Given the description of an element on the screen output the (x, y) to click on. 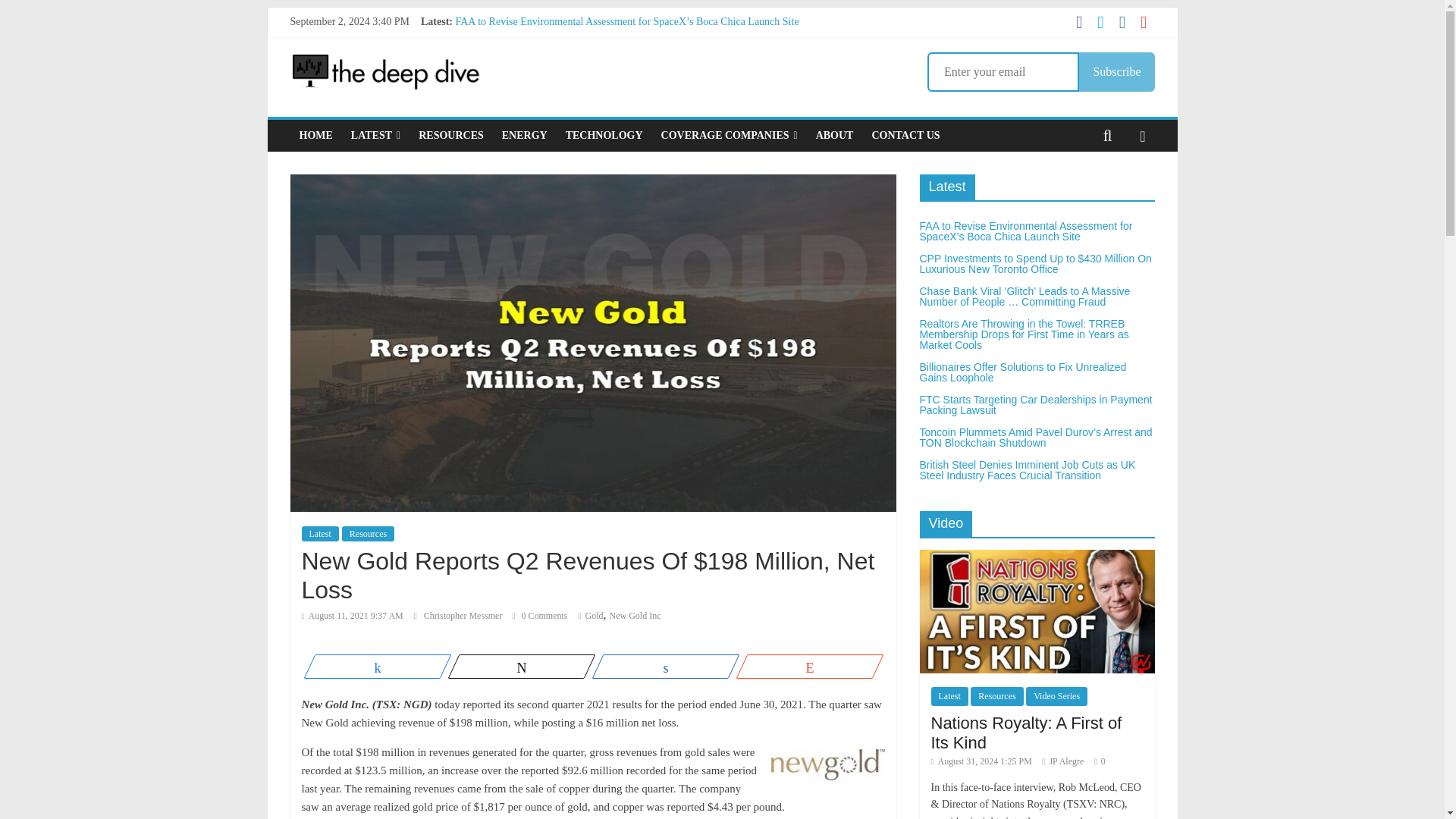
COVERAGE COMPANIES (729, 135)
ENERGY (524, 135)
Christopher Messmer (464, 615)
RESOURCES (451, 135)
TECHNOLOGY (604, 135)
9:37 am (352, 615)
HOME (314, 135)
